Given the description of an element on the screen output the (x, y) to click on. 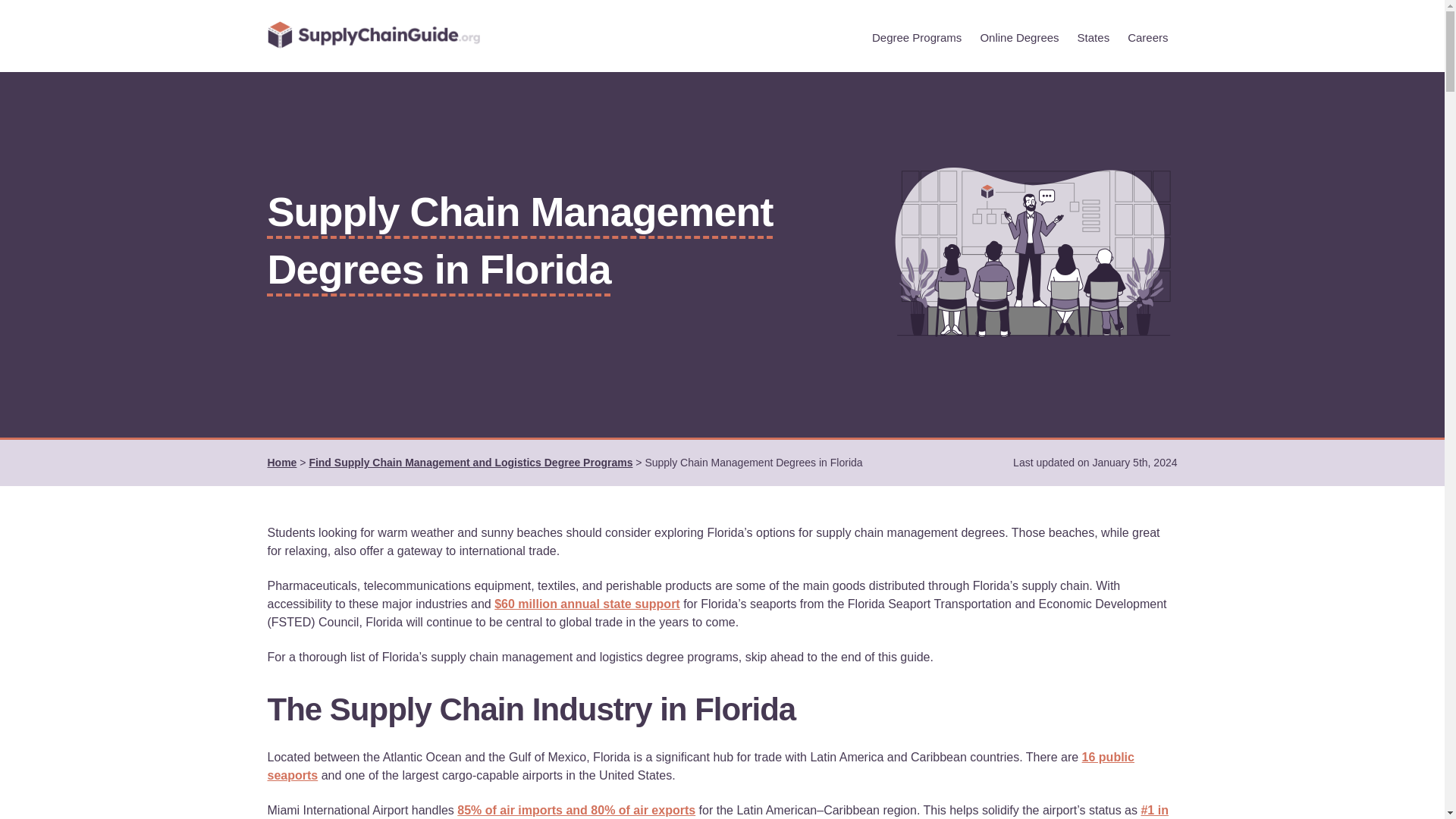
Find Supply Chain Management and Logistics Degree Programs (469, 462)
Careers (1147, 35)
Home (281, 462)
16 public seaports (700, 766)
Degree Programs (917, 35)
States (1093, 35)
Online Degrees (1019, 35)
